Given the description of an element on the screen output the (x, y) to click on. 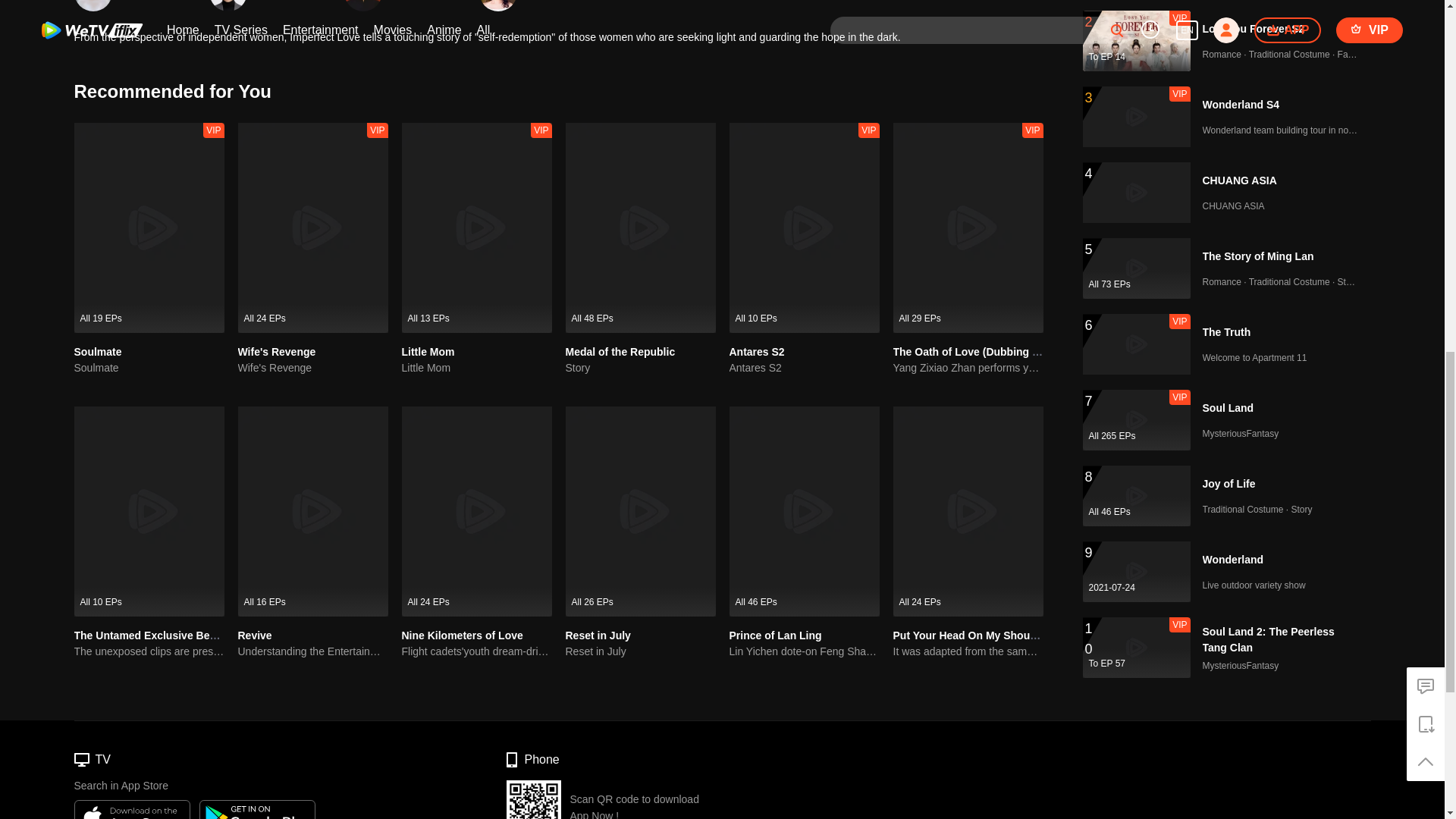
Wife's Revenge (313, 367)
Soulmate (98, 351)
Soulmate (149, 367)
Wife's Revenge (551, 5)
